Given the description of an element on the screen output the (x, y) to click on. 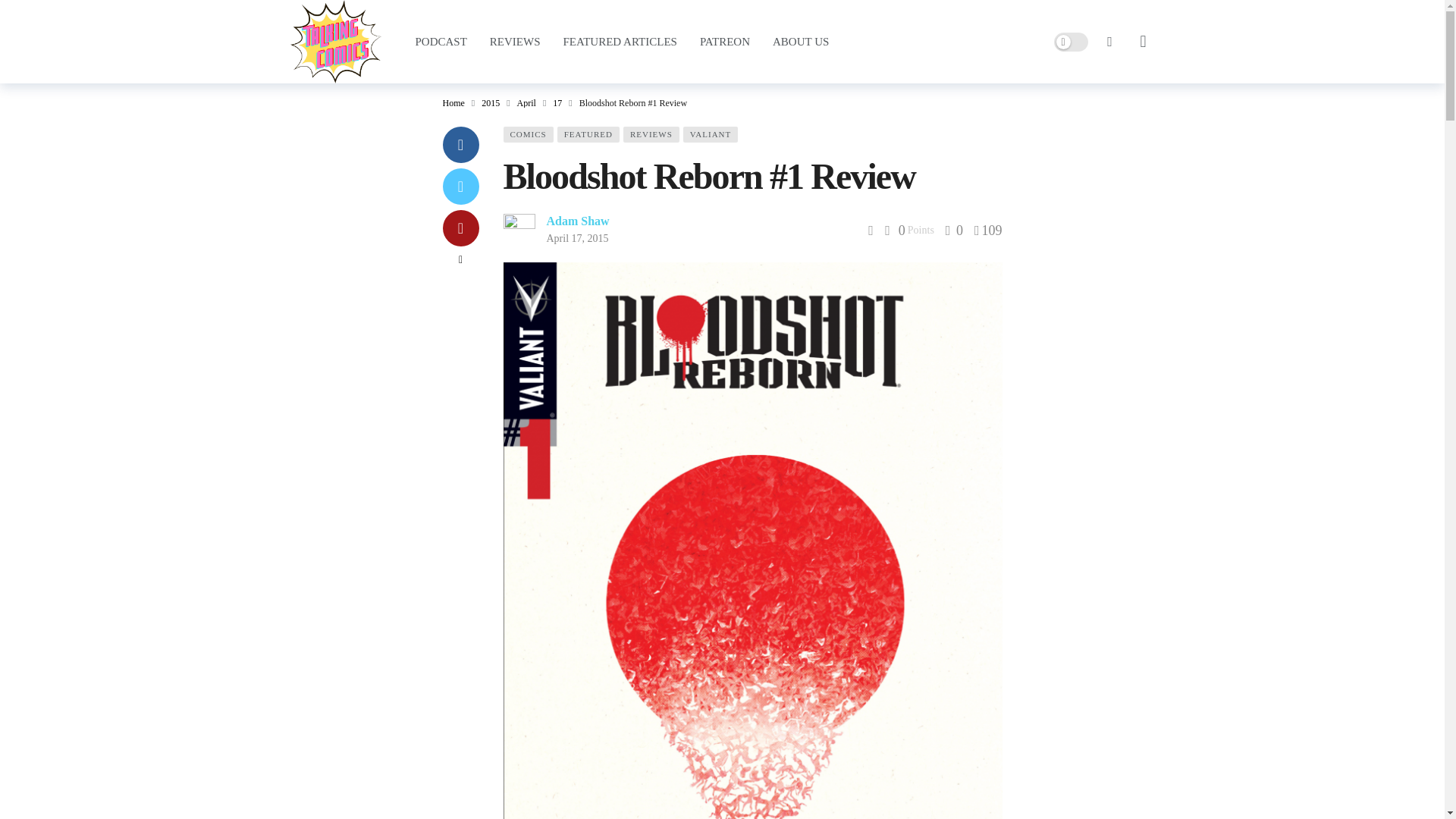
PATREON (724, 41)
Home (453, 102)
April 17, 2015 (577, 238)
17 (557, 102)
REVIEWS (515, 41)
0 (953, 230)
FEATURED (588, 134)
2015 (490, 102)
PODCAST (440, 41)
REVIEWS (651, 134)
